Given the description of an element on the screen output the (x, y) to click on. 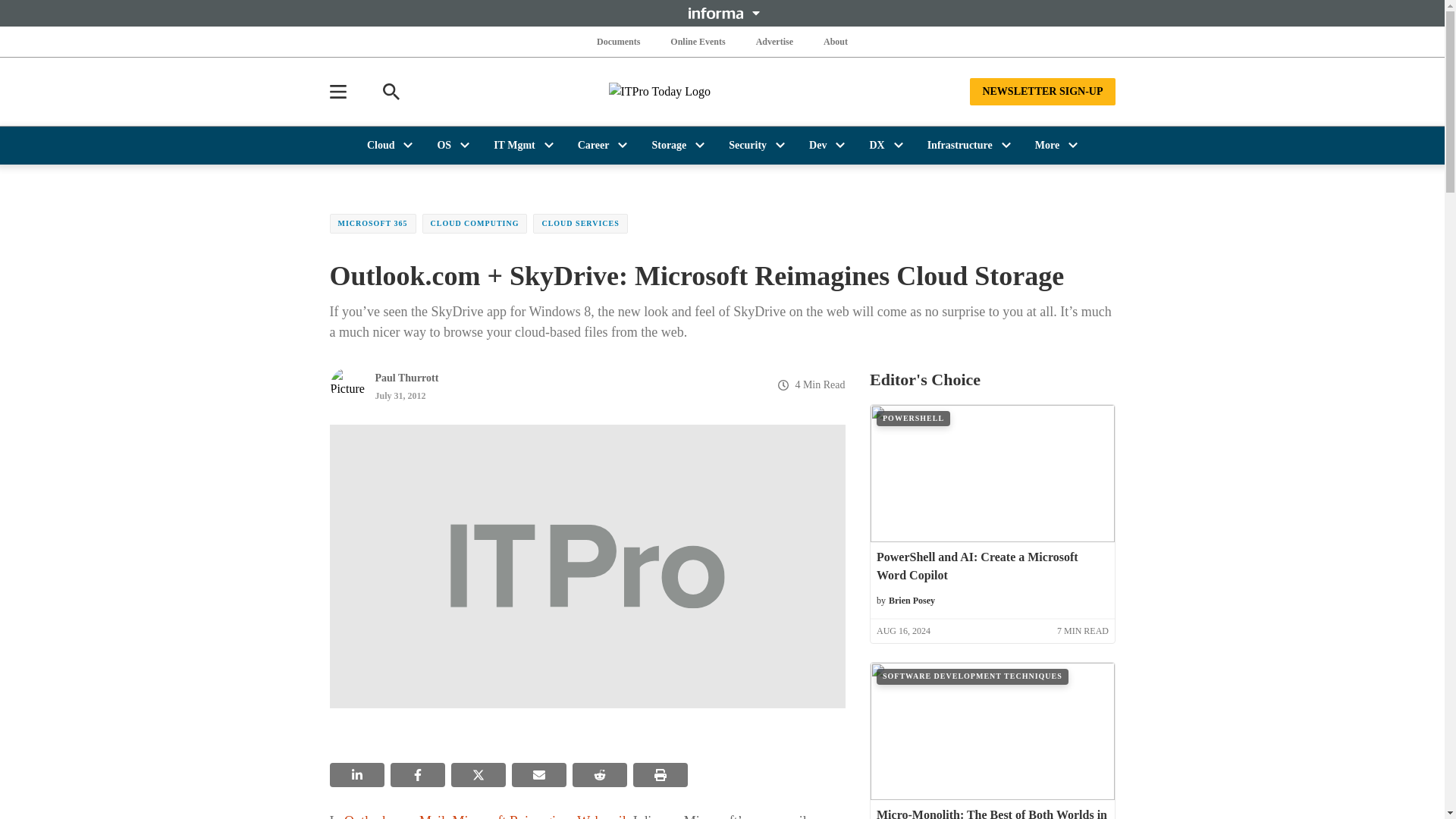
ITPro Today Logo (721, 91)
NEWSLETTER SIGN-UP (1042, 90)
About (835, 41)
Advertise (774, 41)
Online Events (697, 41)
Documents (618, 41)
